Given the description of an element on the screen output the (x, y) to click on. 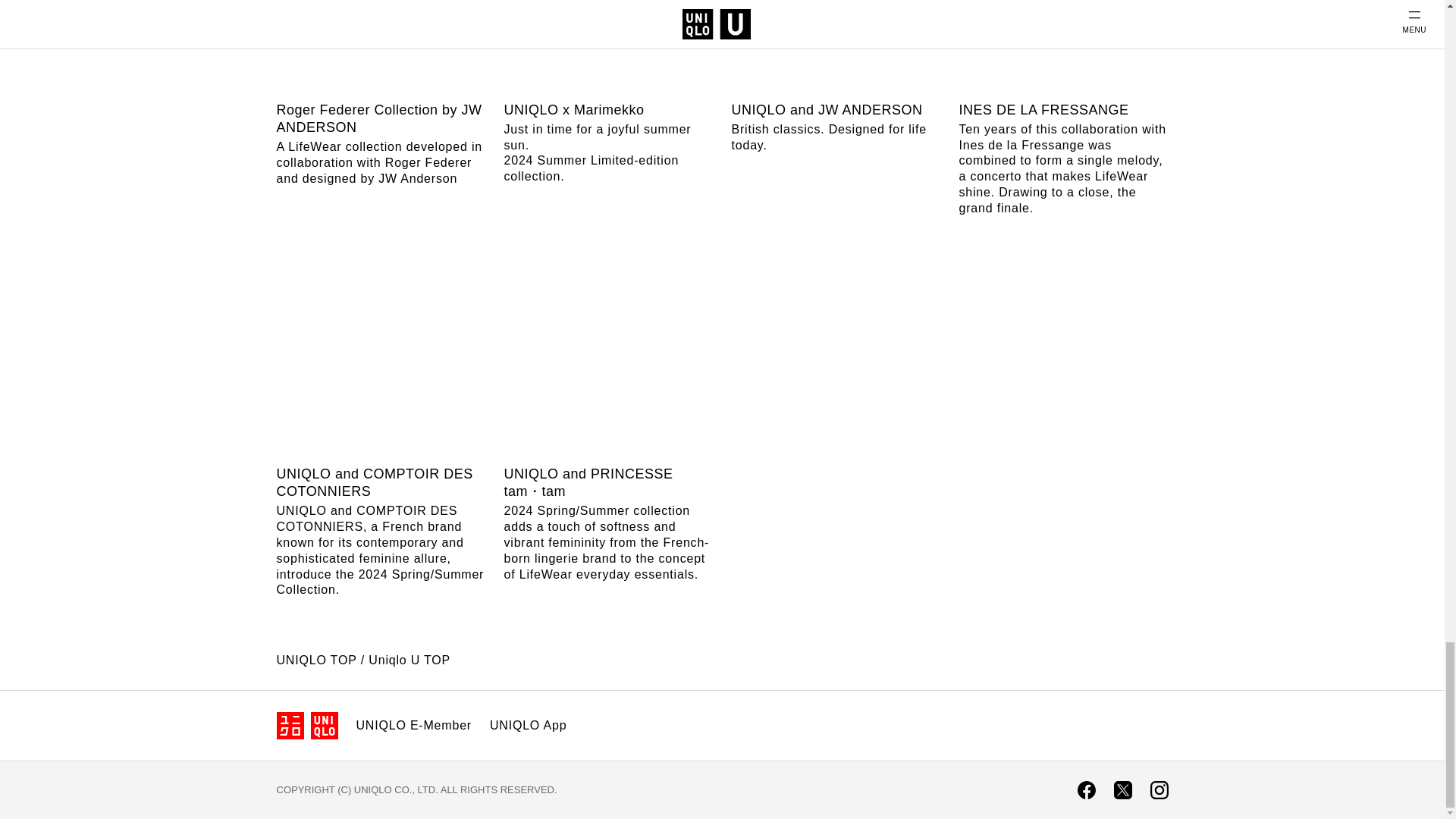
UNIQLO TOP (316, 659)
